Given the description of an element on the screen output the (x, y) to click on. 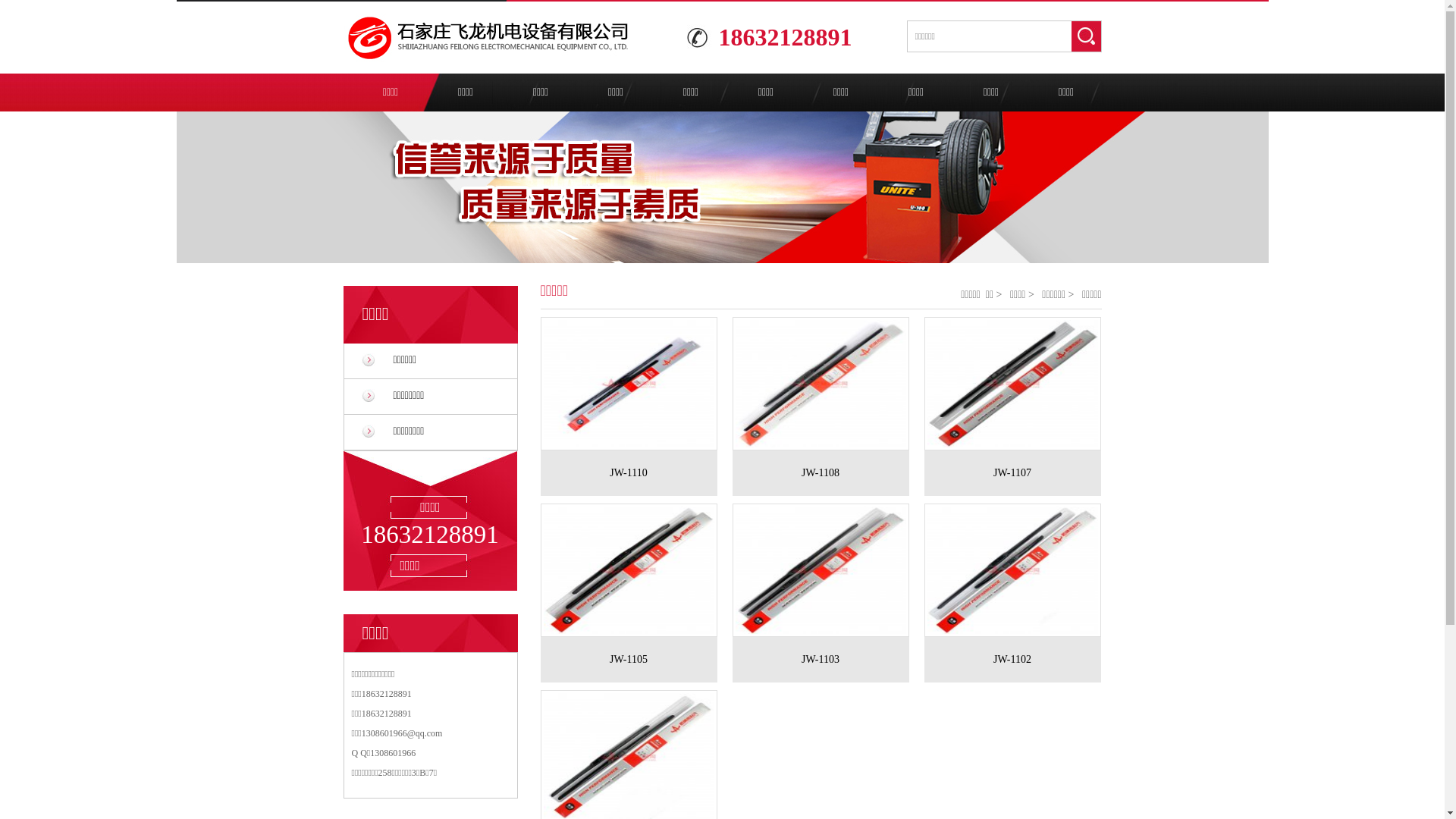
JW-1103 Element type: text (820, 659)
WS-200S Element type: hover (1019, 383)
JW-1110 Element type: text (627, 472)
WS-200S Element type: hover (635, 570)
WS-200S Element type: hover (635, 383)
WS-200S Element type: hover (1019, 570)
WS-200S Element type: hover (828, 570)
JW-1102 Element type: text (1011, 659)
JW-1108 Element type: text (820, 472)
WS-200S Element type: hover (828, 383)
JW-1107 Element type: text (1011, 472)
JW-1105 Element type: text (627, 659)
